Given the description of an element on the screen output the (x, y) to click on. 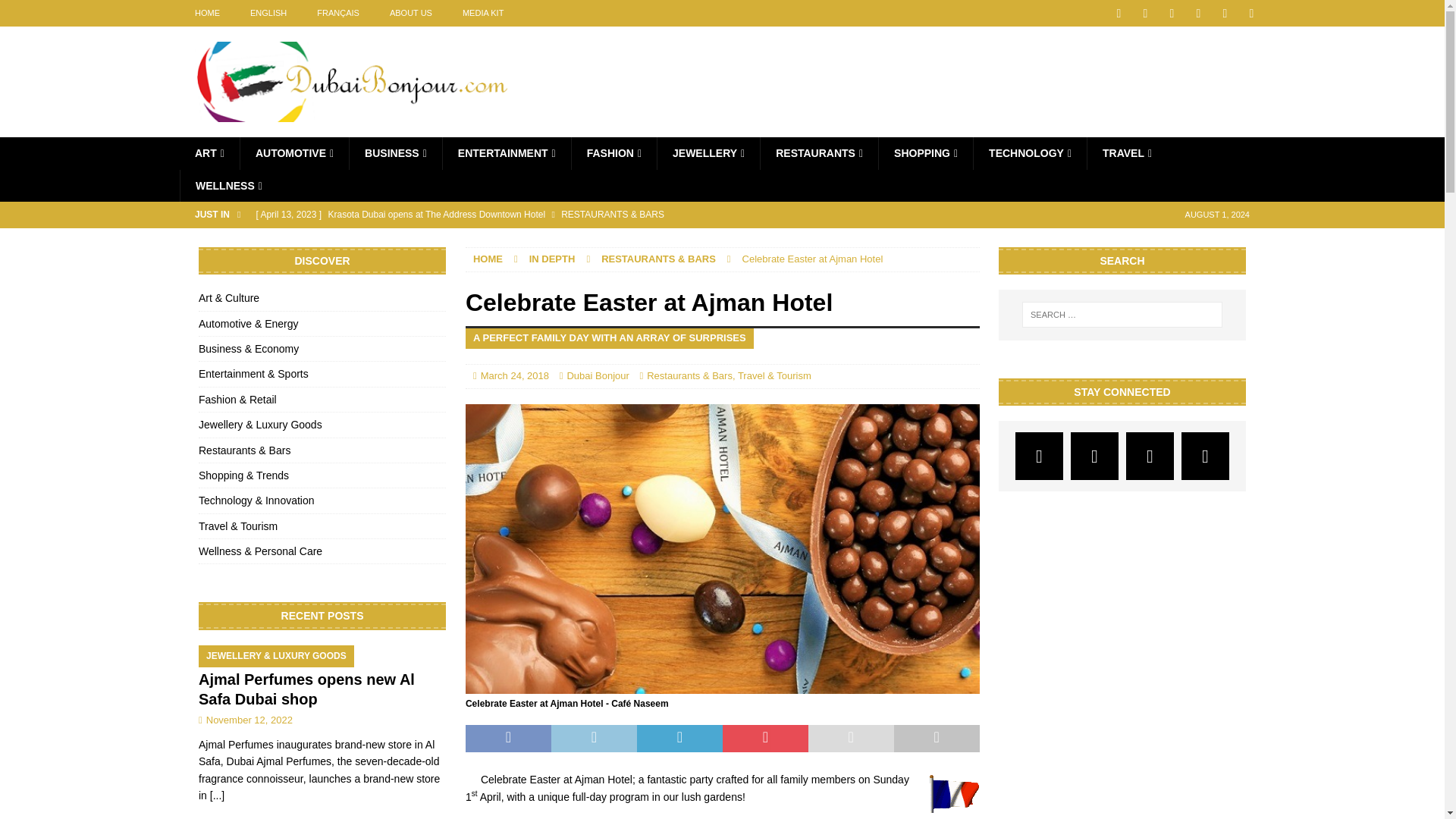
ENTERTAINMENT (506, 152)
RESTAURANTS (818, 152)
ENGLISH (267, 13)
ABOUT US (410, 13)
MEDIA KIT (482, 13)
WELLNESS (228, 185)
ART (209, 152)
HOME (206, 13)
Krasota Dubai opens at The Address Downtown Hotel (567, 214)
SHOPPING (924, 152)
TRAVEL (1126, 152)
Raspoutine Dubai reveals a playful Valentine (567, 240)
JEWELLERY (708, 152)
FASHION (613, 152)
TECHNOLOGY (1029, 152)
